Given the description of an element on the screen output the (x, y) to click on. 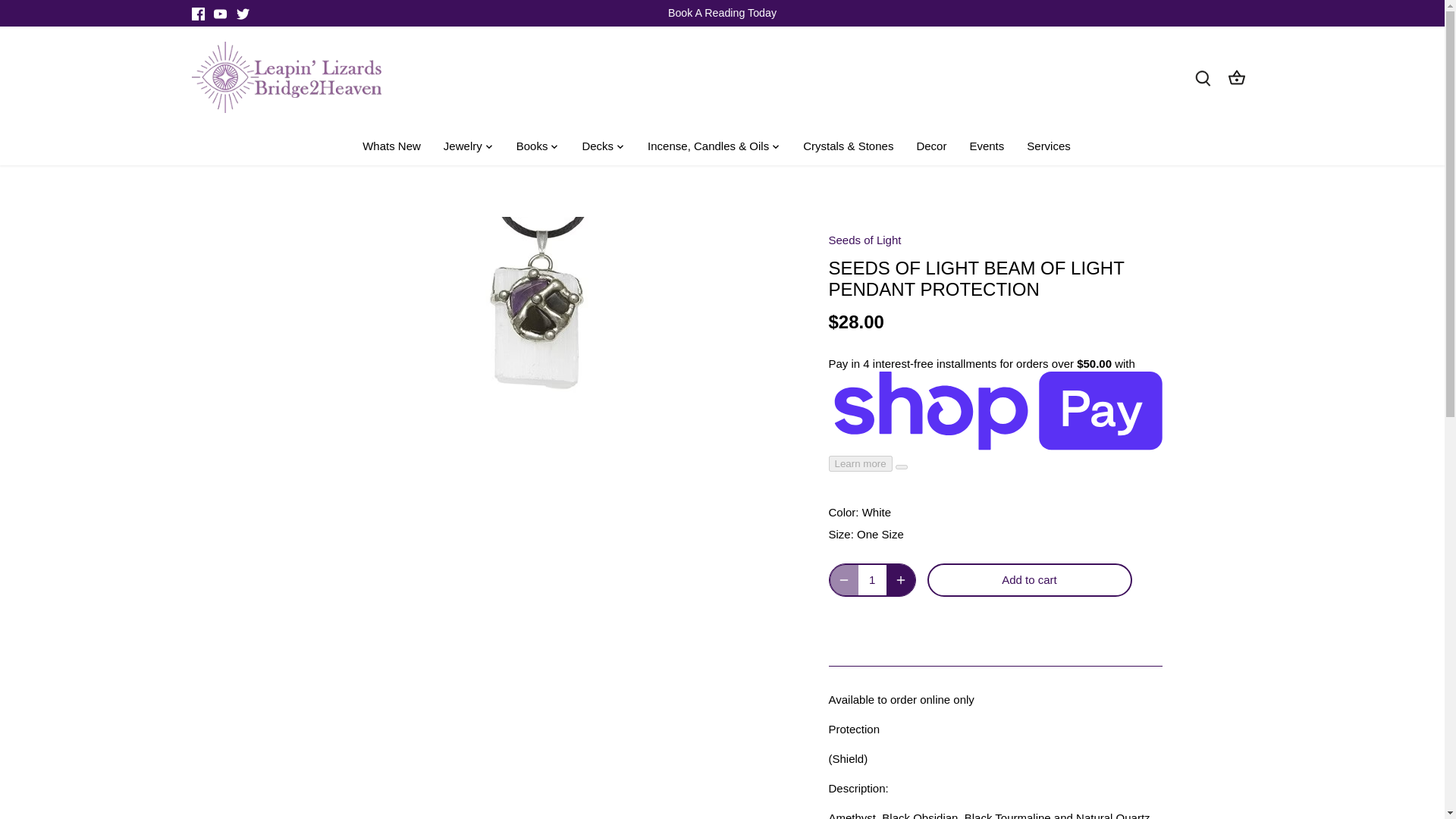
Jewelry (462, 146)
Whats New (397, 146)
Book A Reading Today (722, 12)
1 (872, 580)
Books (532, 146)
Youtube (220, 13)
Decks (597, 146)
Facebook (196, 13)
Twitter (241, 13)
